Given the description of an element on the screen output the (x, y) to click on. 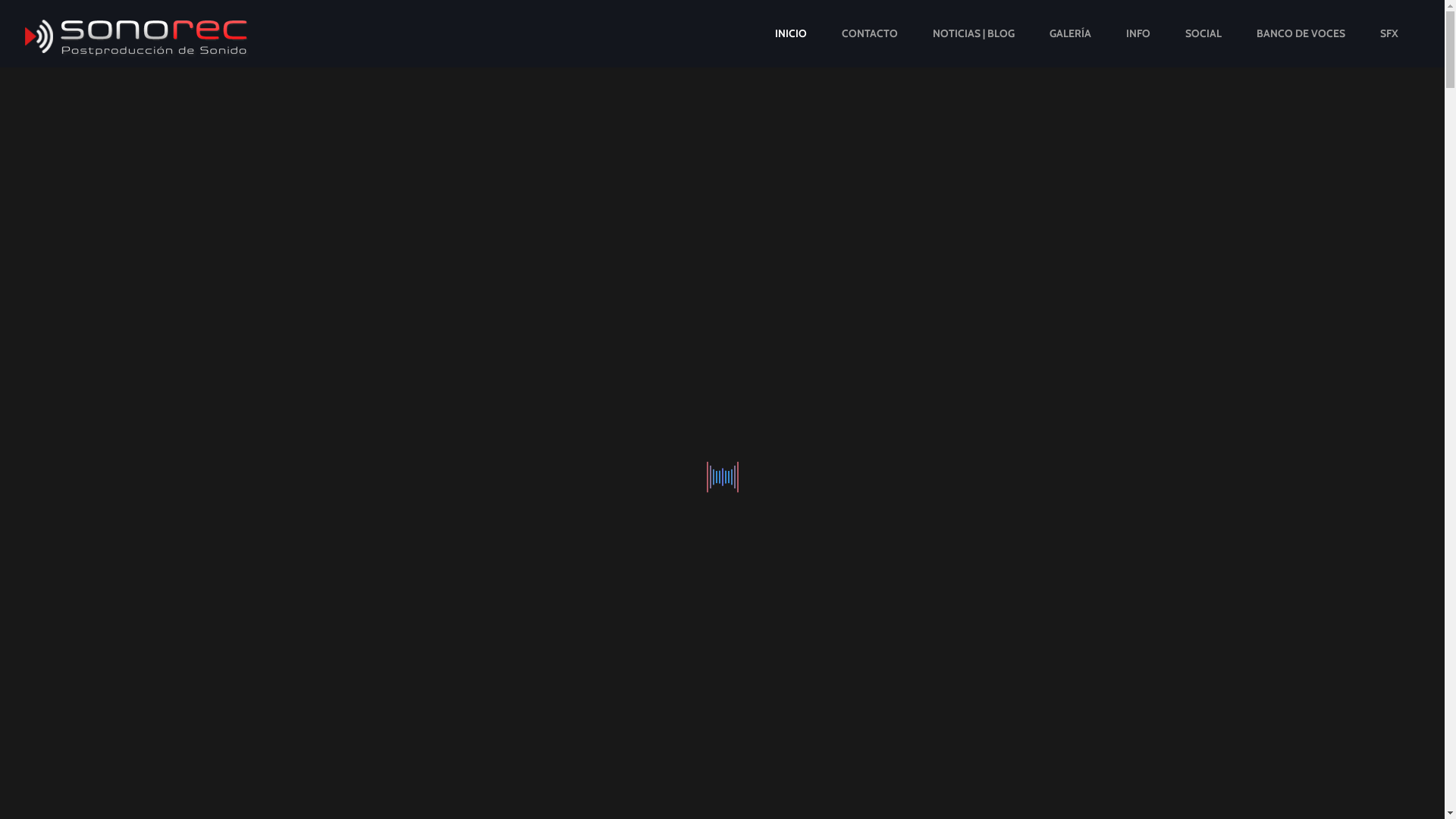
BANCO DE VOCES Element type: text (1300, 33)
INFO Element type: text (1138, 33)
INICIO Element type: text (790, 33)
SFX Element type: text (1389, 33)
SOCIAL Element type: text (1203, 33)
NOTICIAS | BLOG Element type: text (973, 33)
CONTACTO Element type: text (869, 33)
